Given the description of an element on the screen output the (x, y) to click on. 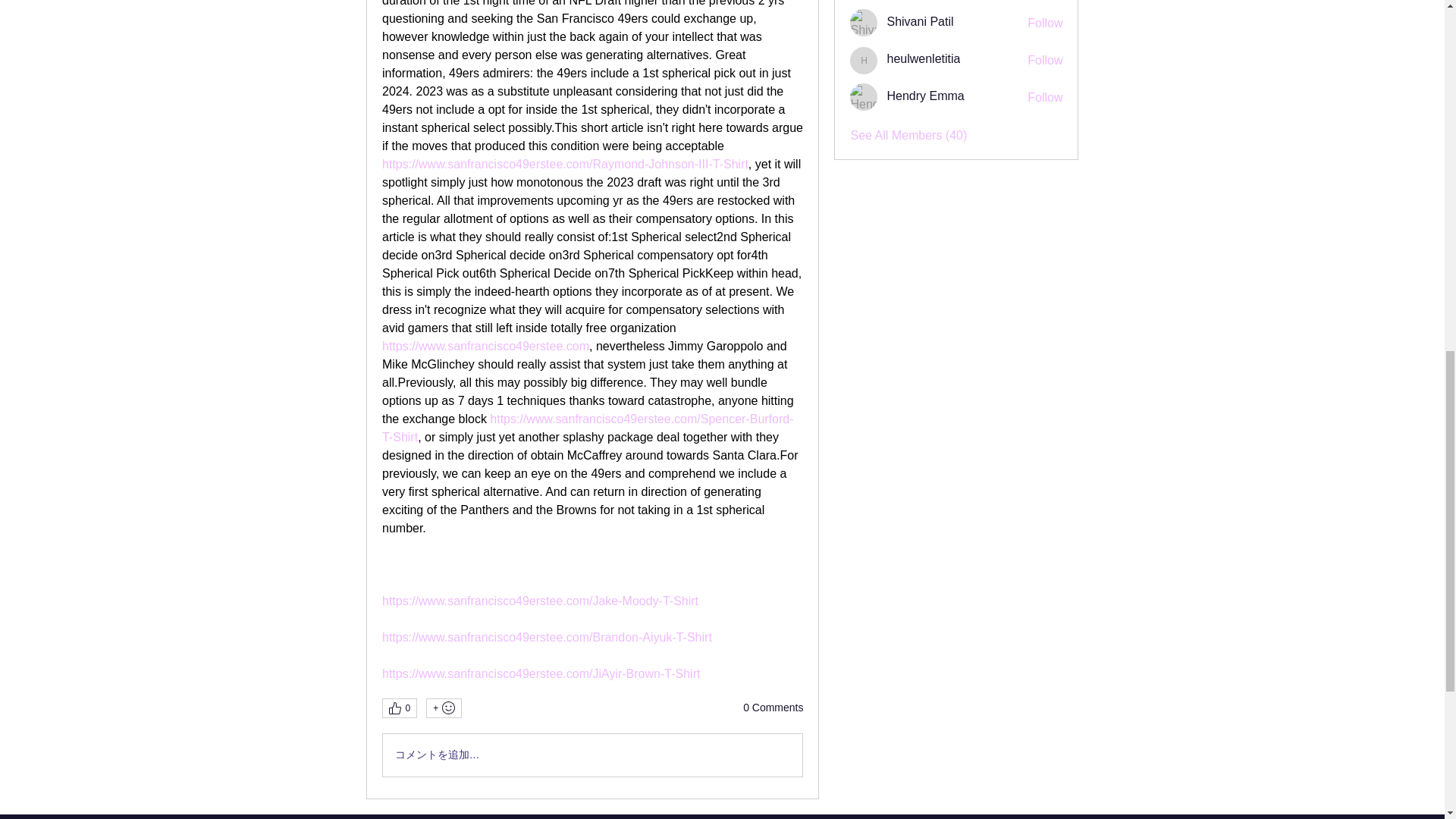
Shivani Patil (863, 22)
heulwenletitia (863, 60)
Hendry Emma (863, 96)
0 Comments (772, 708)
